Given the description of an element on the screen output the (x, y) to click on. 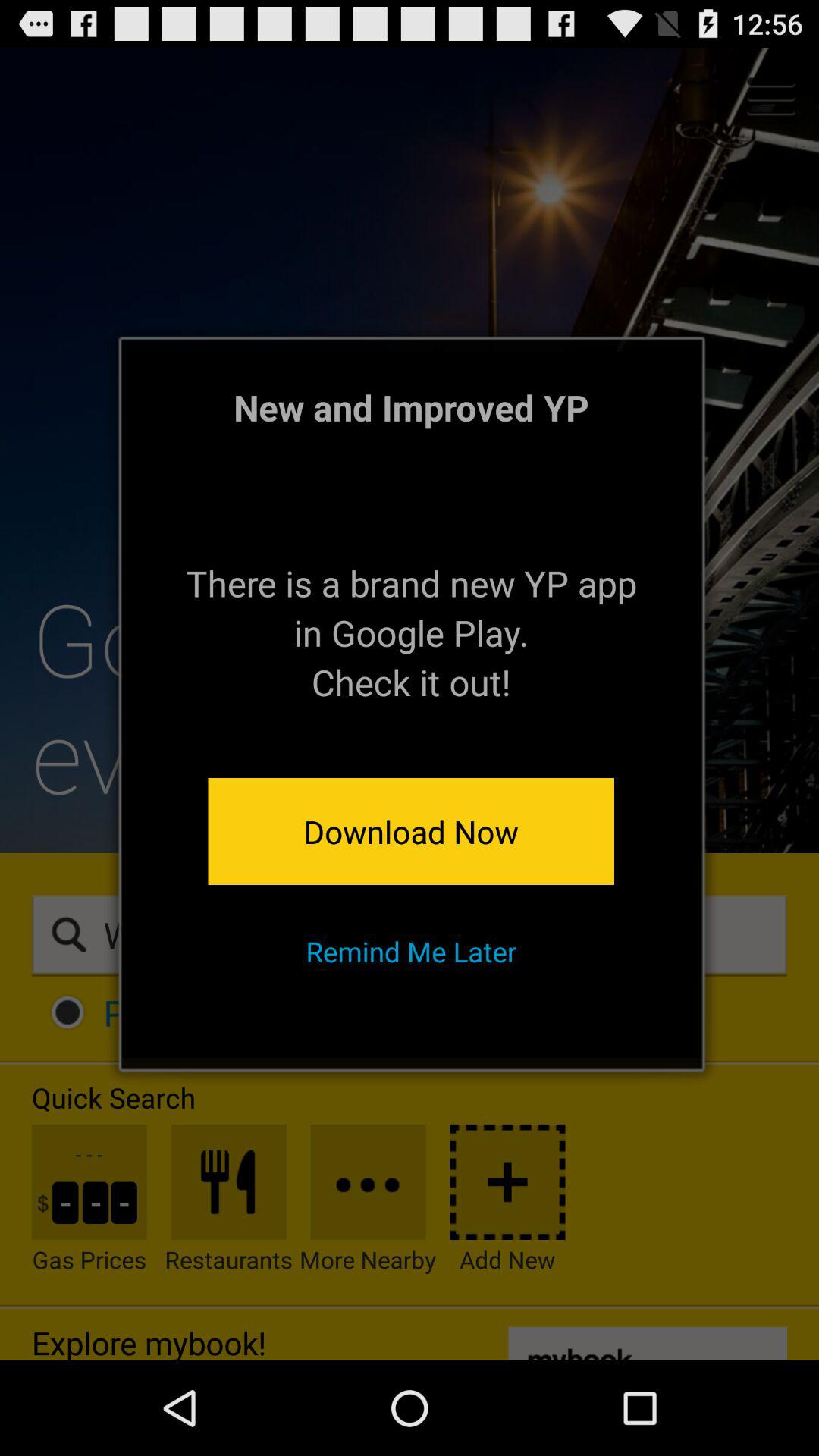
press download now (411, 831)
